Given the description of an element on the screen output the (x, y) to click on. 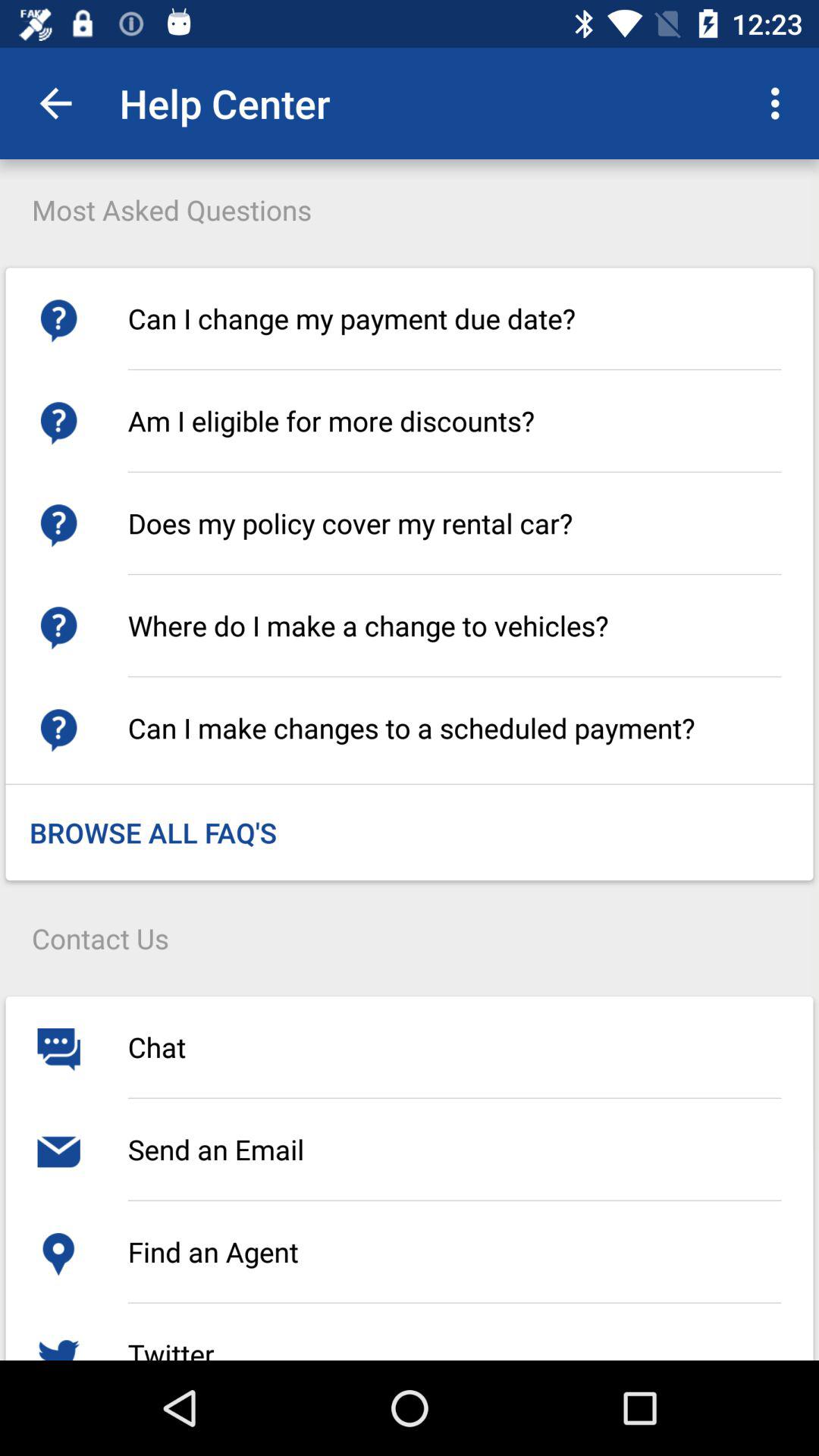
click icon above the most asked questions icon (55, 103)
